Given the description of an element on the screen output the (x, y) to click on. 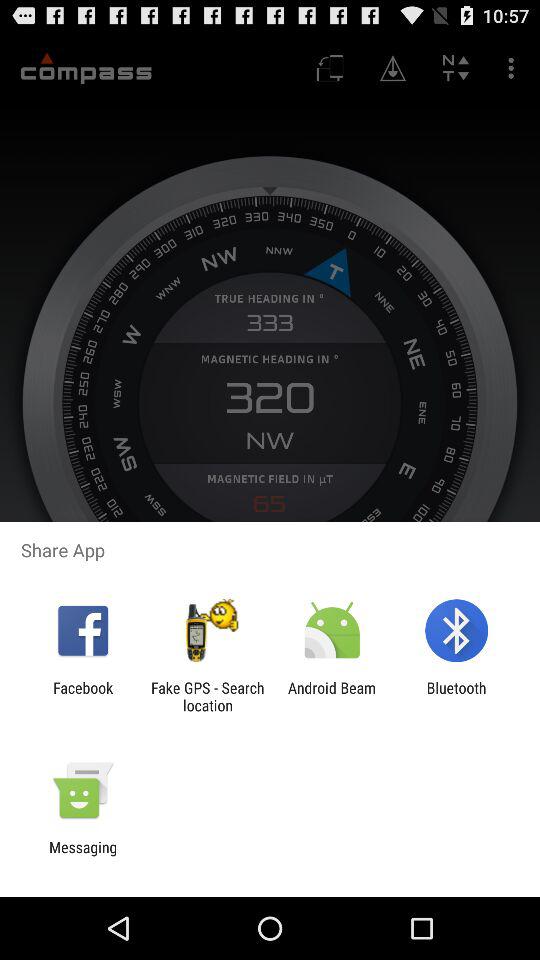
open bluetooth item (456, 696)
